Given the description of an element on the screen output the (x, y) to click on. 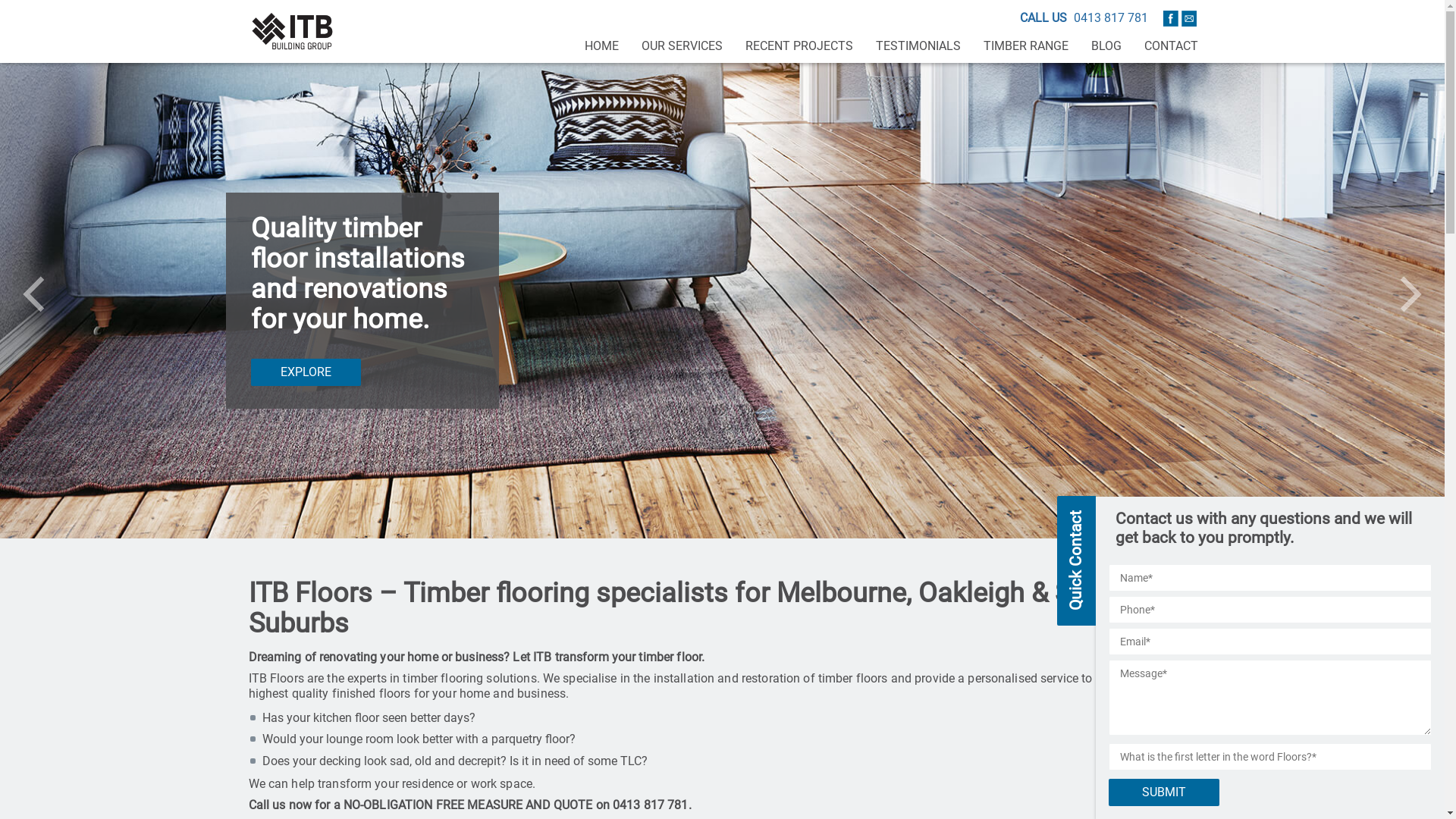
EXPLORE Element type: text (305, 371)
CONTACT Element type: text (1171, 46)
BLOG Element type: text (1106, 46)
TESTIMONIALS Element type: text (918, 46)
Email Element type: text (1187, 17)
restoration Element type: text (770, 678)
Quick Contact Element type: text (1121, 514)
0413 817 781 Element type: text (650, 804)
installation Element type: text (684, 678)
0413 817 781 Element type: text (1110, 17)
TIMBER RANGE Element type: text (1025, 46)
OUR SERVICES Element type: text (680, 46)
NEXT Element type: text (1410, 293)
RECENT PROJECTS Element type: text (798, 46)
HOME Element type: text (601, 46)
Facebook Element type: text (1171, 17)
PREVIOUS Element type: text (32, 293)
Submit Element type: text (1163, 792)
